Given the description of an element on the screen output the (x, y) to click on. 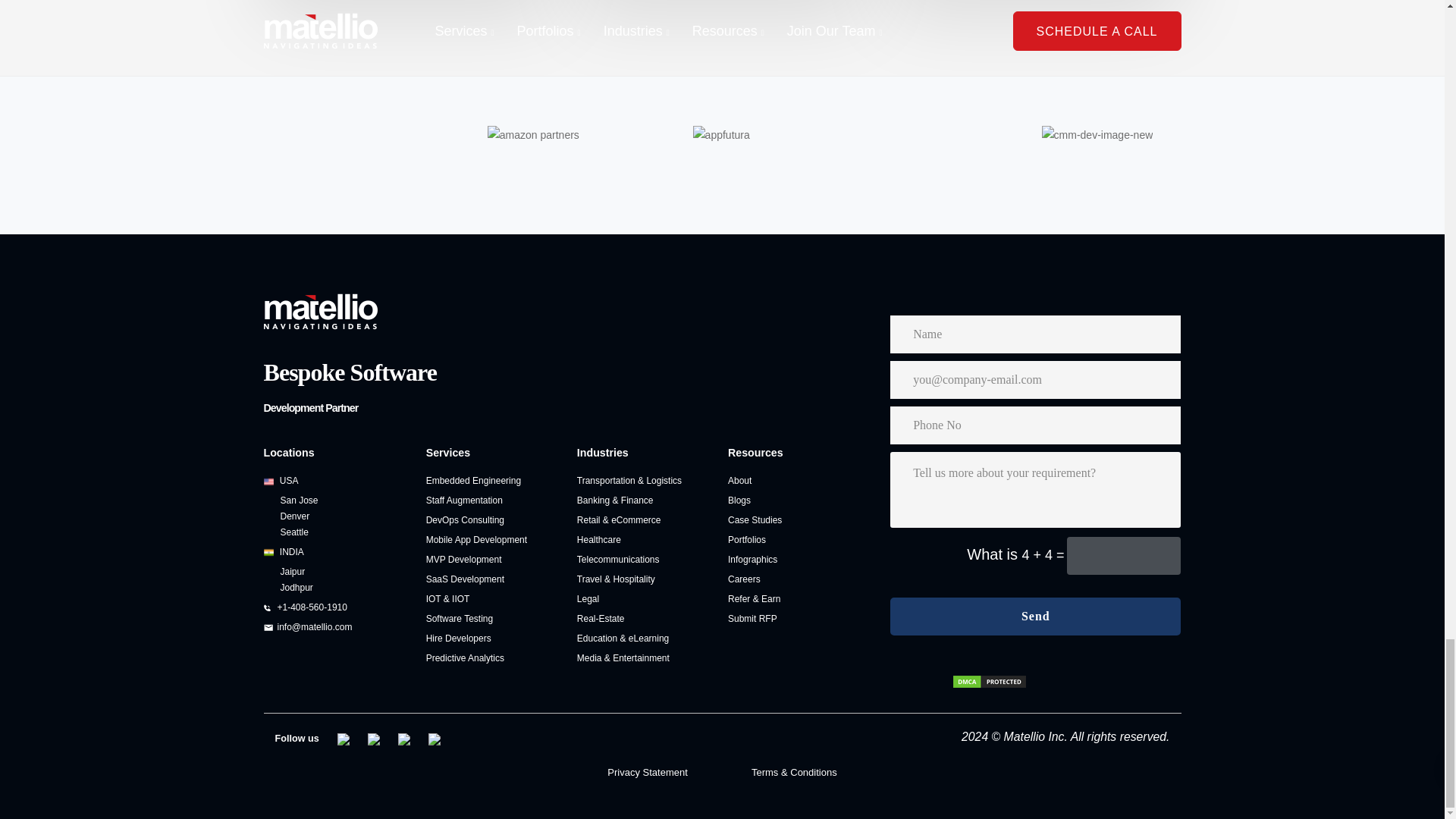
Send (1034, 616)
